Given the description of an element on the screen output the (x, y) to click on. 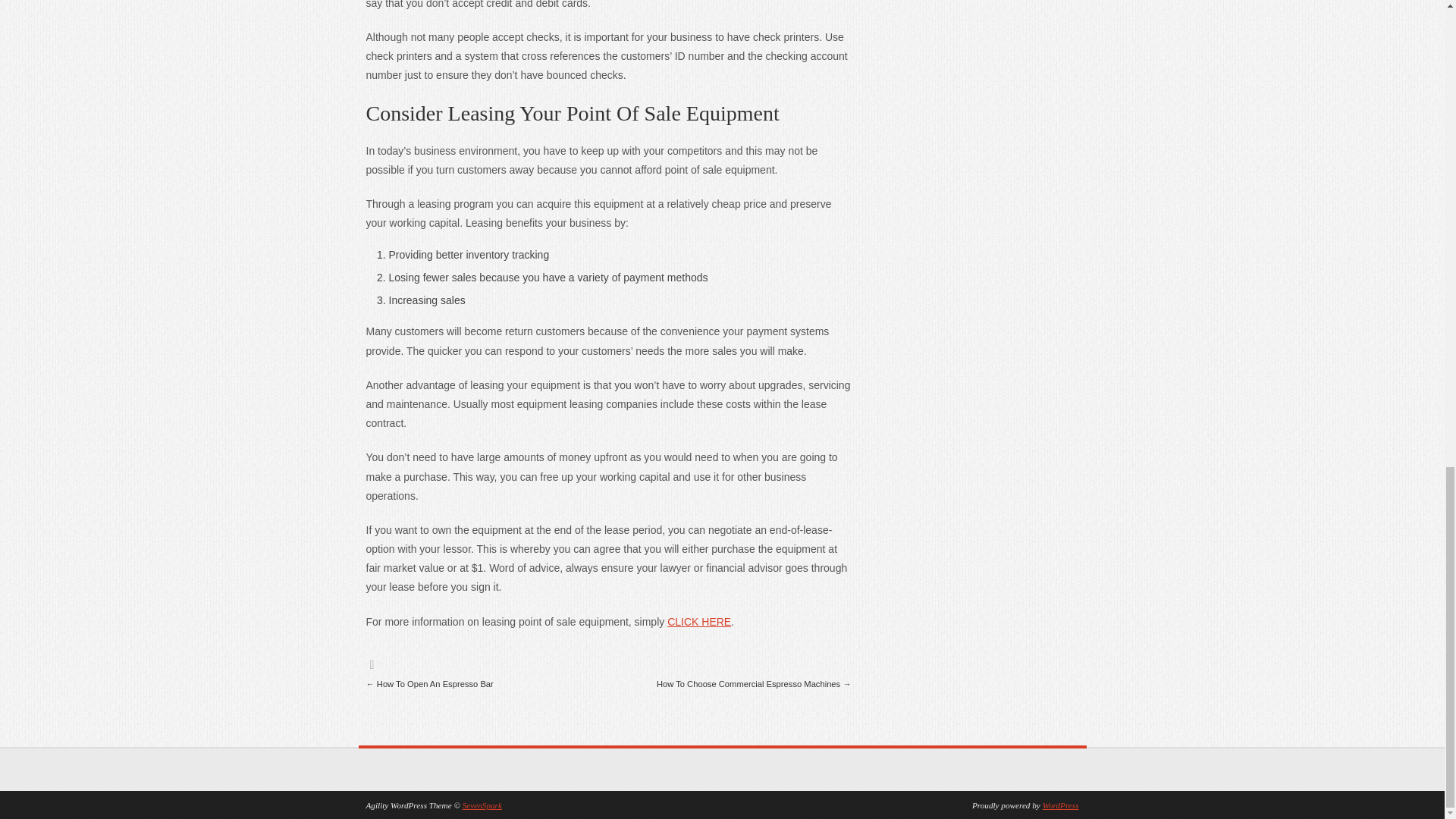
WordPress (1060, 804)
CLICK HERE (698, 621)
SevenSpark (482, 804)
